Given the description of an element on the screen output the (x, y) to click on. 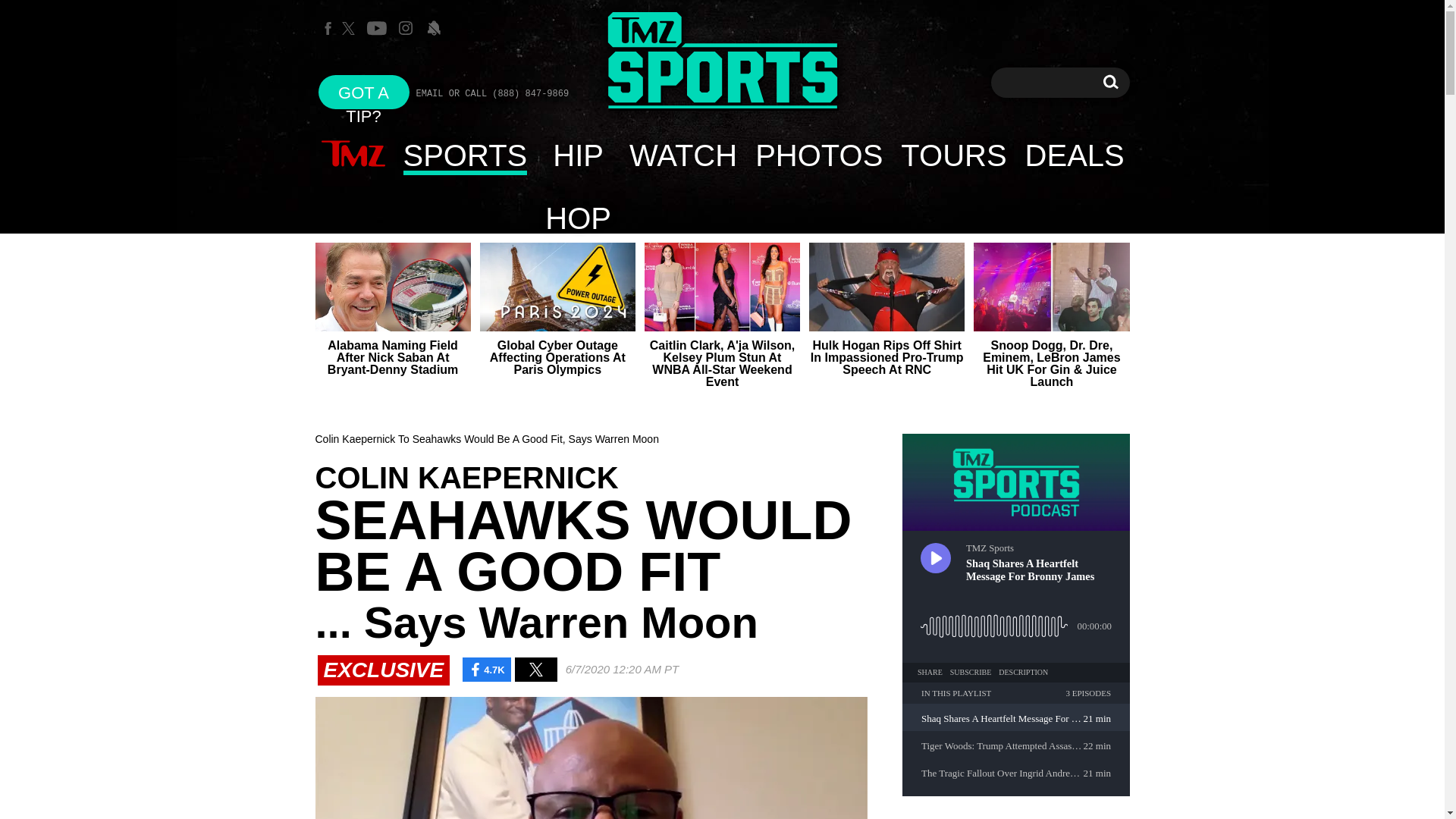
GOT A TIP? (363, 91)
TMZ Sports (722, 60)
PHOTOS (818, 154)
SPORTS (465, 154)
NEWS (353, 154)
TOURS (952, 154)
DEALS (1075, 154)
HIP HOP (577, 154)
Search (1110, 81)
WATCH (682, 154)
TMZ Sports (722, 62)
